Given the description of an element on the screen output the (x, y) to click on. 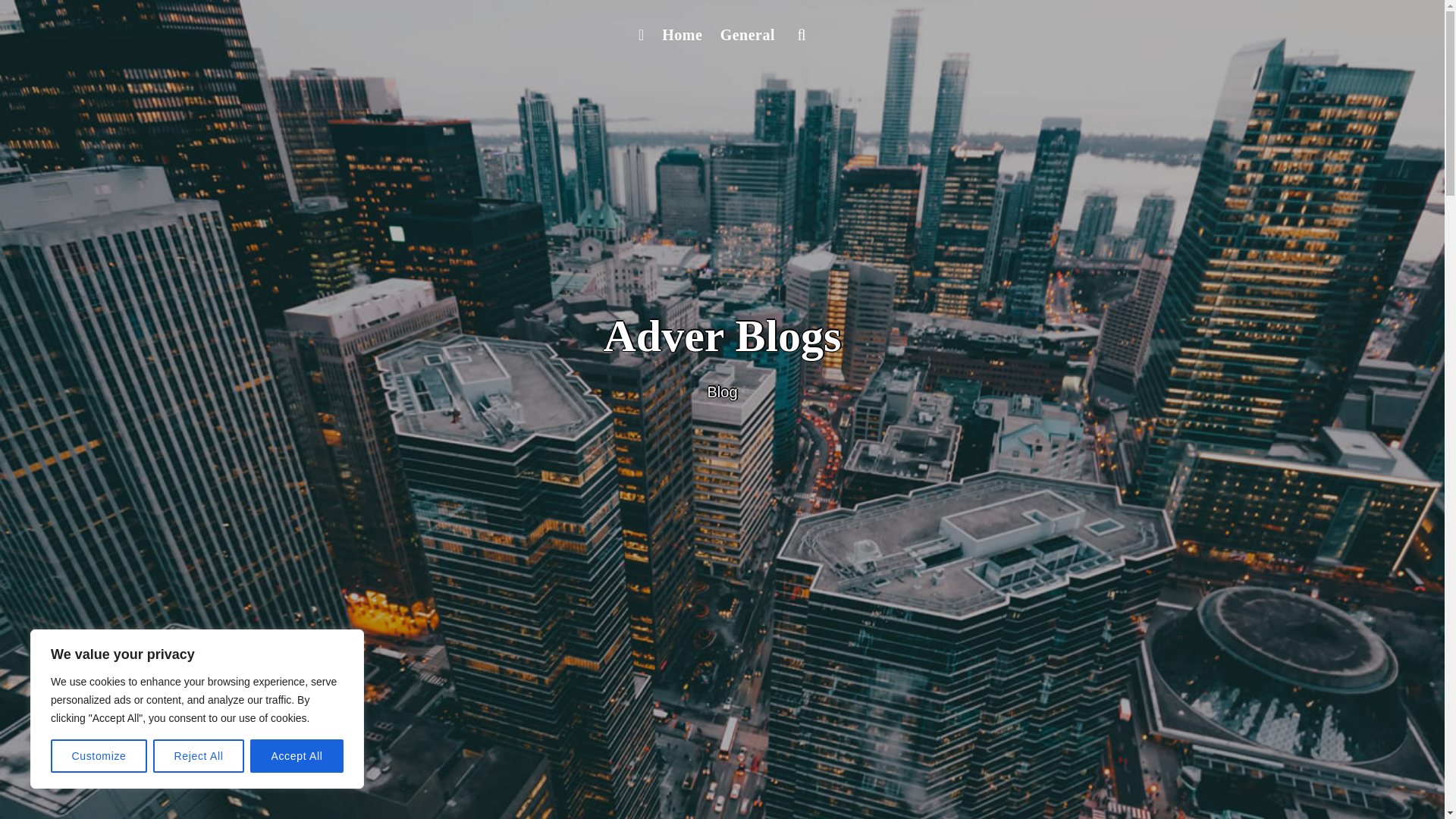
Accept All (296, 756)
Customize (98, 756)
Adver Blogs (722, 336)
General (747, 35)
Home (681, 35)
Reject All (198, 756)
